Given the description of an element on the screen output the (x, y) to click on. 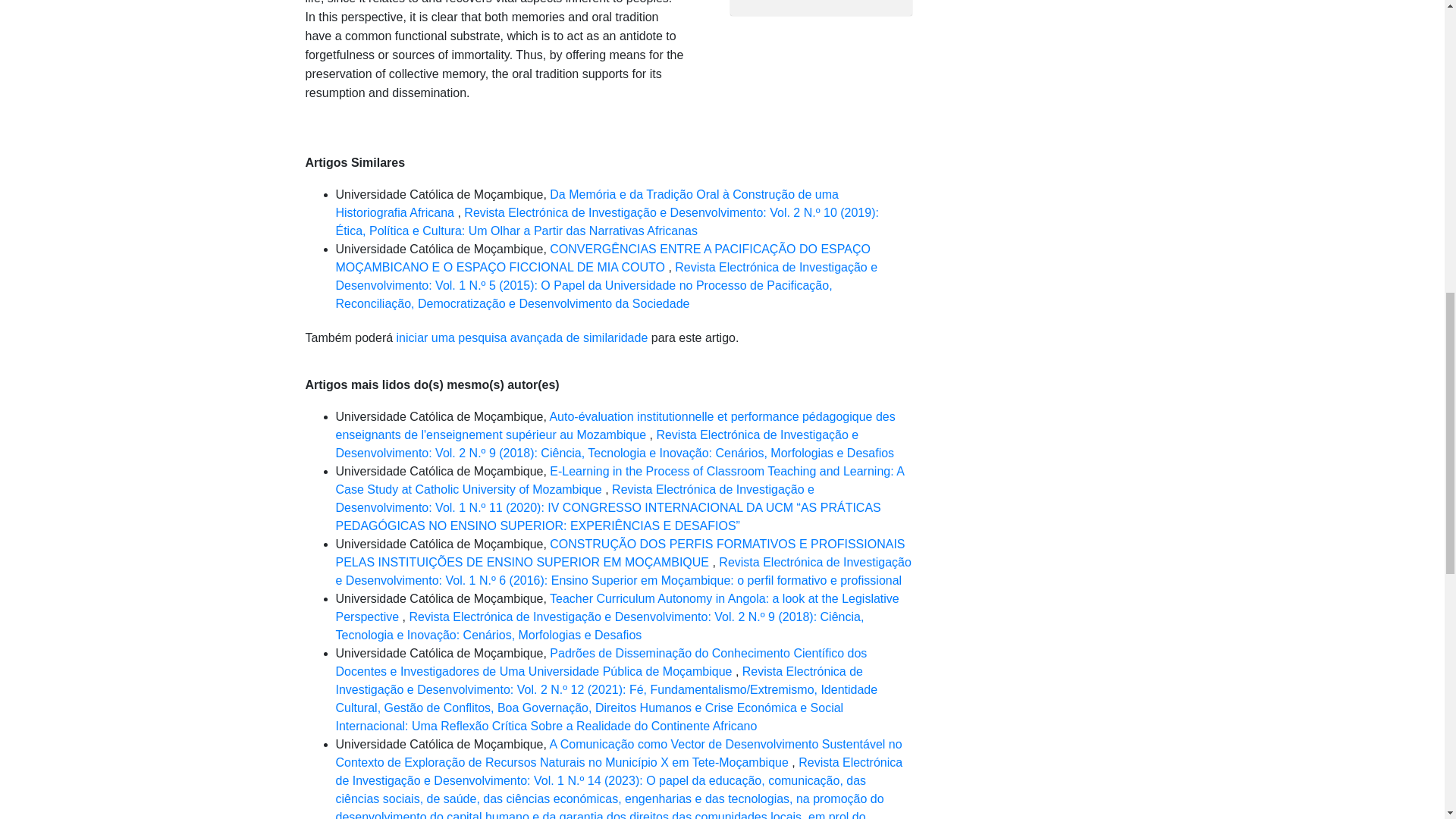
Artigos Similares (354, 162)
